Given the description of an element on the screen output the (x, y) to click on. 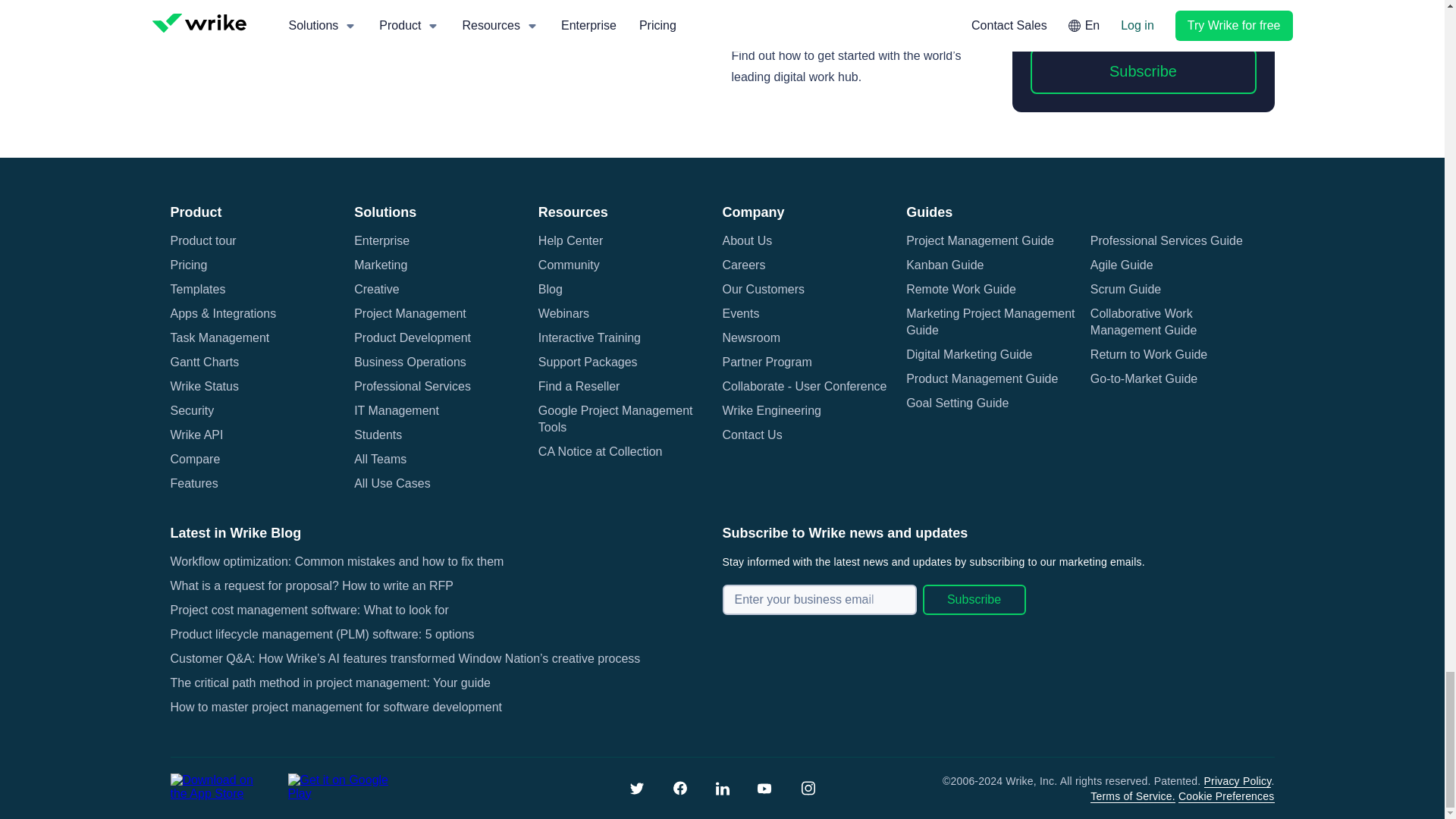
Product Development (411, 337)
Creative (375, 289)
Enterprise (381, 241)
Marketing (380, 265)
Product tour (202, 241)
Project Management (409, 313)
Task Management (219, 337)
Business Operations (409, 362)
Features (193, 483)
Templates (197, 289)
Security (192, 410)
Professional Services (411, 386)
Gantt Charts (204, 362)
Pricing (188, 265)
Compare (194, 459)
